Given the description of an element on the screen output the (x, y) to click on. 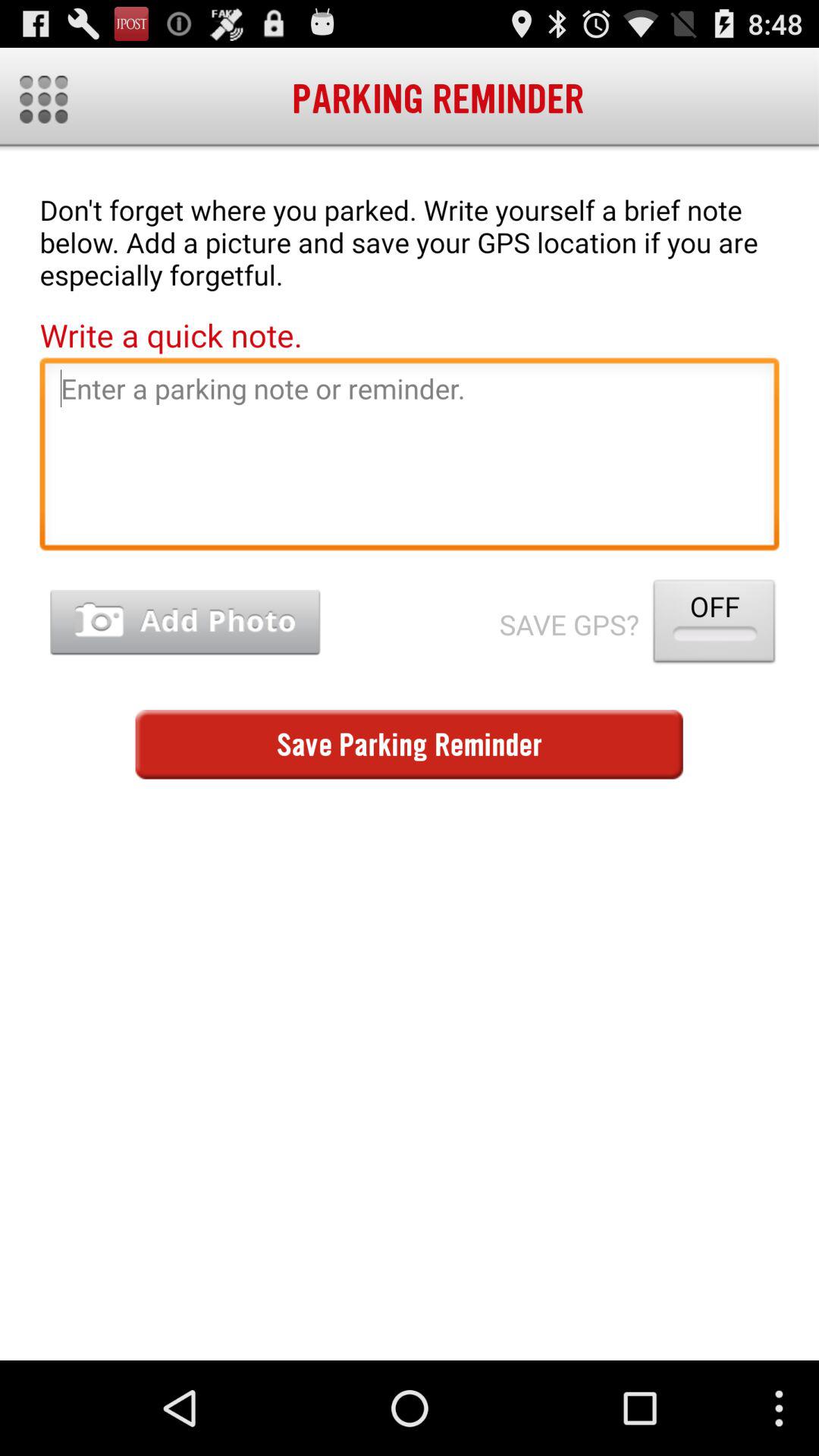
home edits (43, 99)
